Given the description of an element on the screen output the (x, y) to click on. 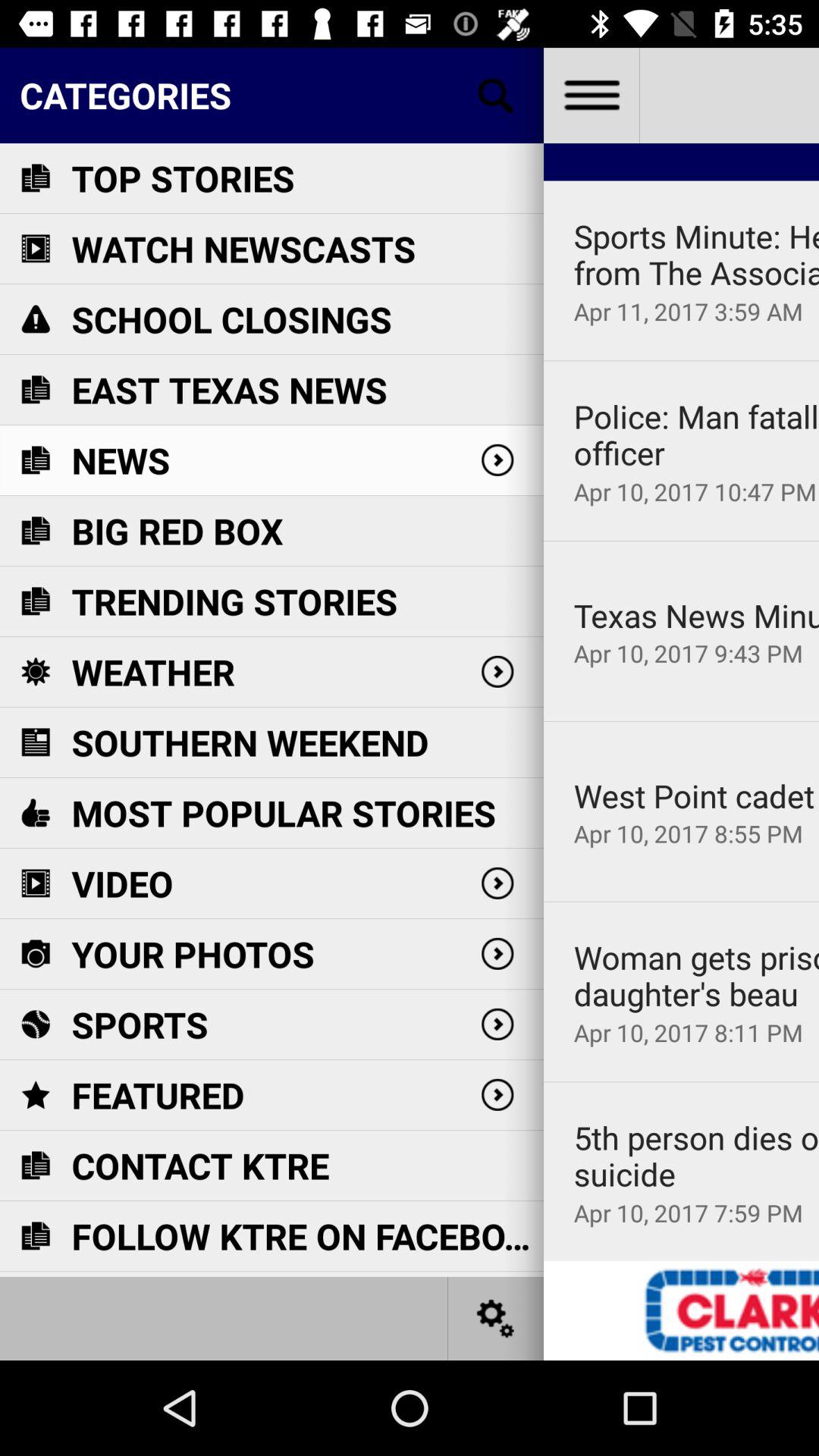
icon left to the text big red box (35, 531)
click on icon left to contact ktre (35, 1165)
click on seventh icon which is below categories (35, 601)
click on the sun symbol which is to the left of weather (35, 671)
